Given the description of an element on the screen output the (x, y) to click on. 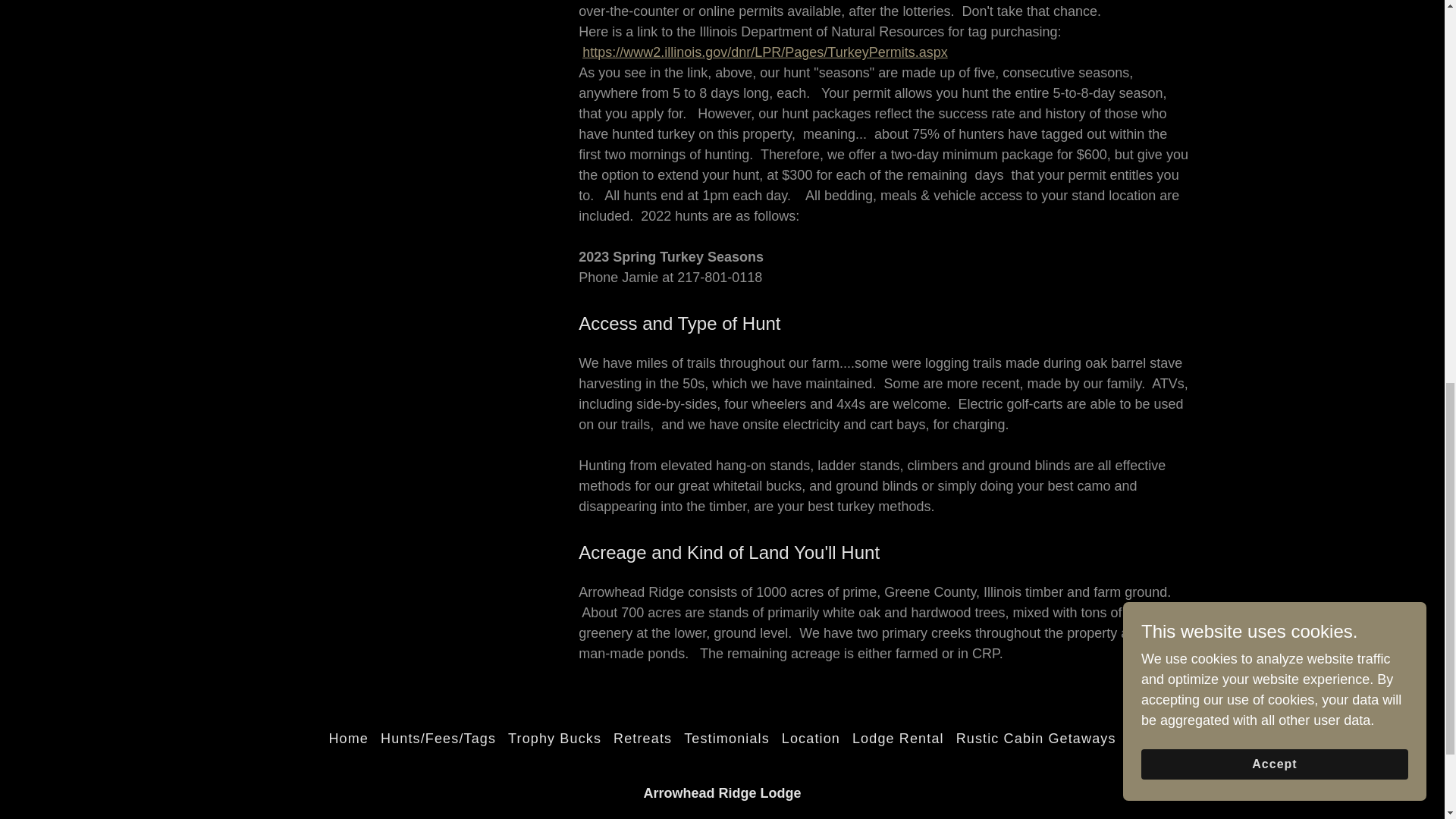
Trophy Bucks (554, 738)
Retreats (642, 738)
Home (347, 738)
